Given the description of an element on the screen output the (x, y) to click on. 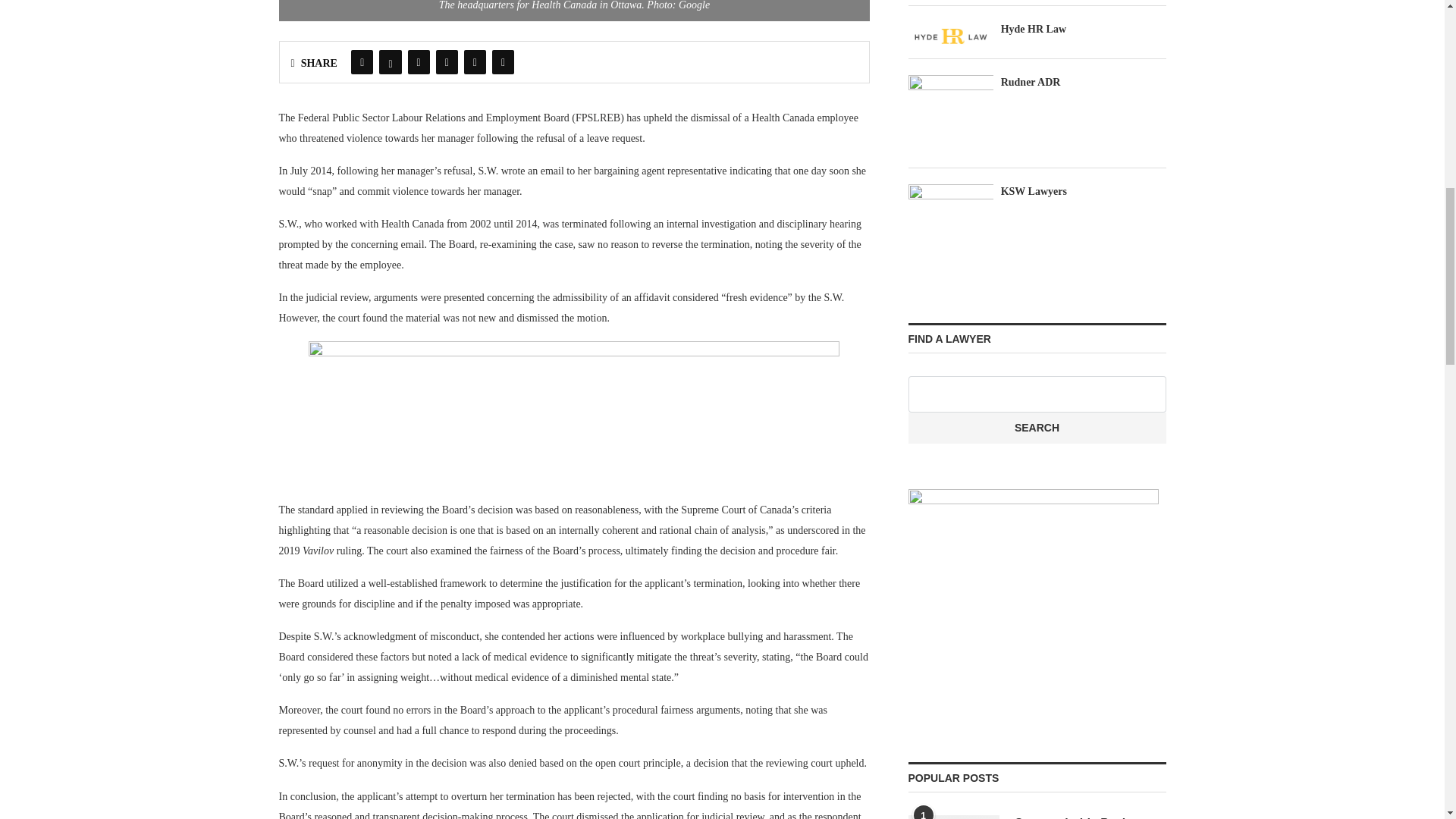
Health Canada (574, 10)
Search (1037, 427)
Search (1037, 427)
